Given the description of an element on the screen output the (x, y) to click on. 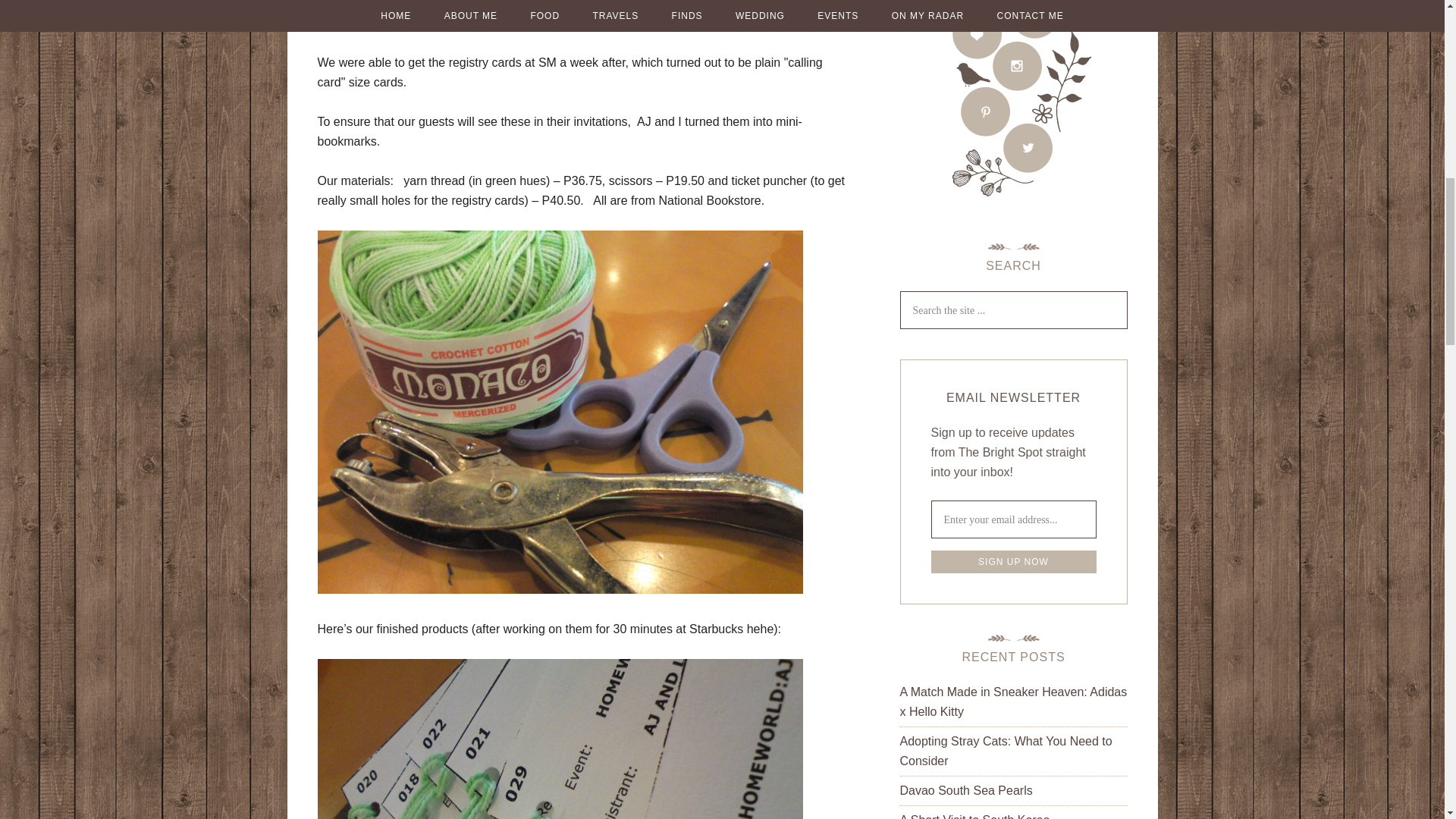
Adopting Stray Cats: What You Need to Consider (1005, 750)
Davao South Sea Pearls (965, 789)
A Match Made in Sneaker Heaven: Adidas x Hello Kitty (1012, 701)
Sign Up Now (1013, 561)
A Short Visit to South Korea (974, 816)
Sign Up Now (1013, 561)
